Given the description of an element on the screen output the (x, y) to click on. 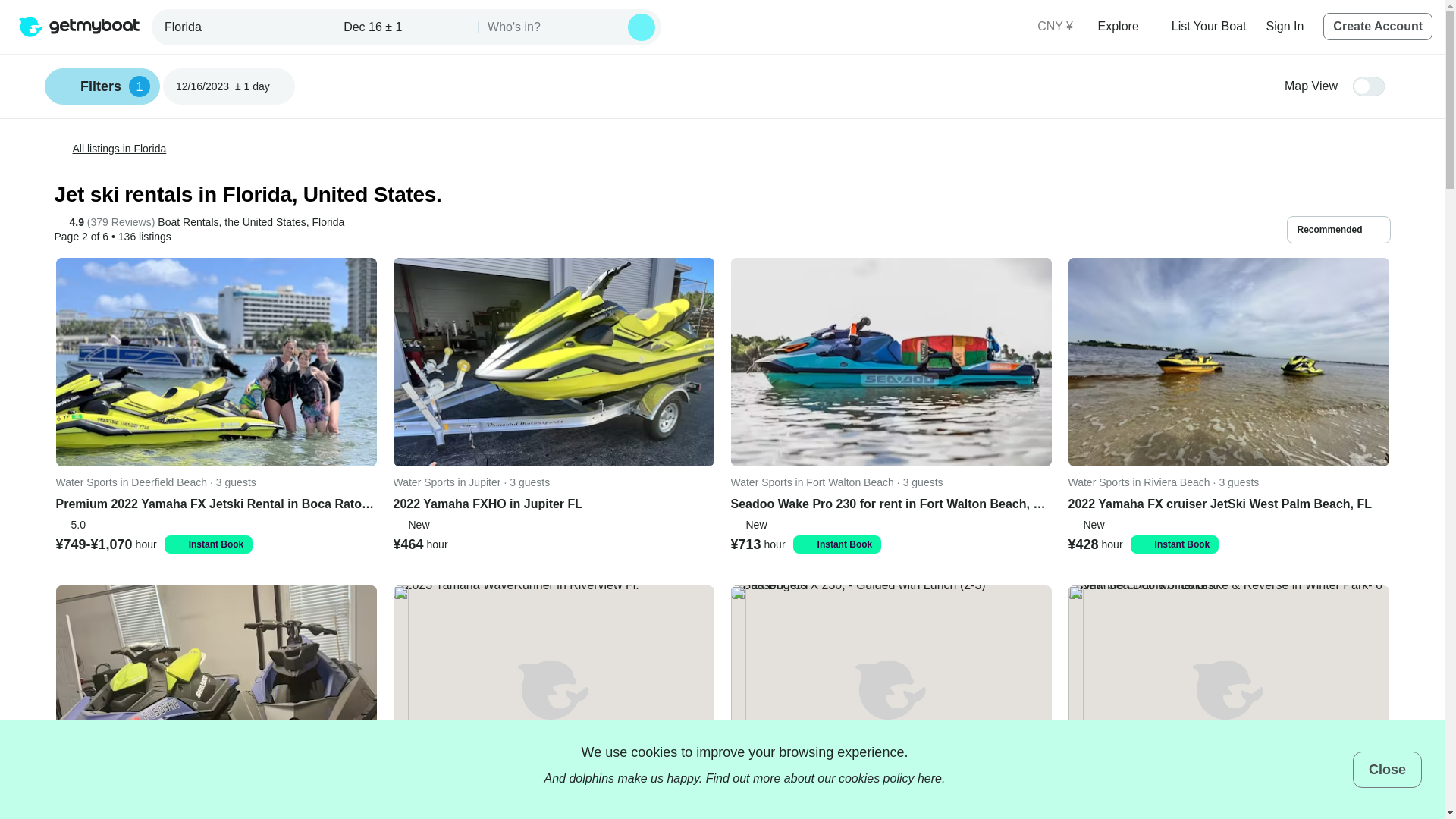
cookies policy here (890, 778)
Explore (1123, 25)
Close (1387, 769)
Clear Trip Date Filter (280, 85)
Create Account (102, 85)
Recommended (1377, 26)
Florida (1338, 229)
Sign In (244, 26)
Boat Rentals (1285, 26)
